Given the description of an element on the screen output the (x, y) to click on. 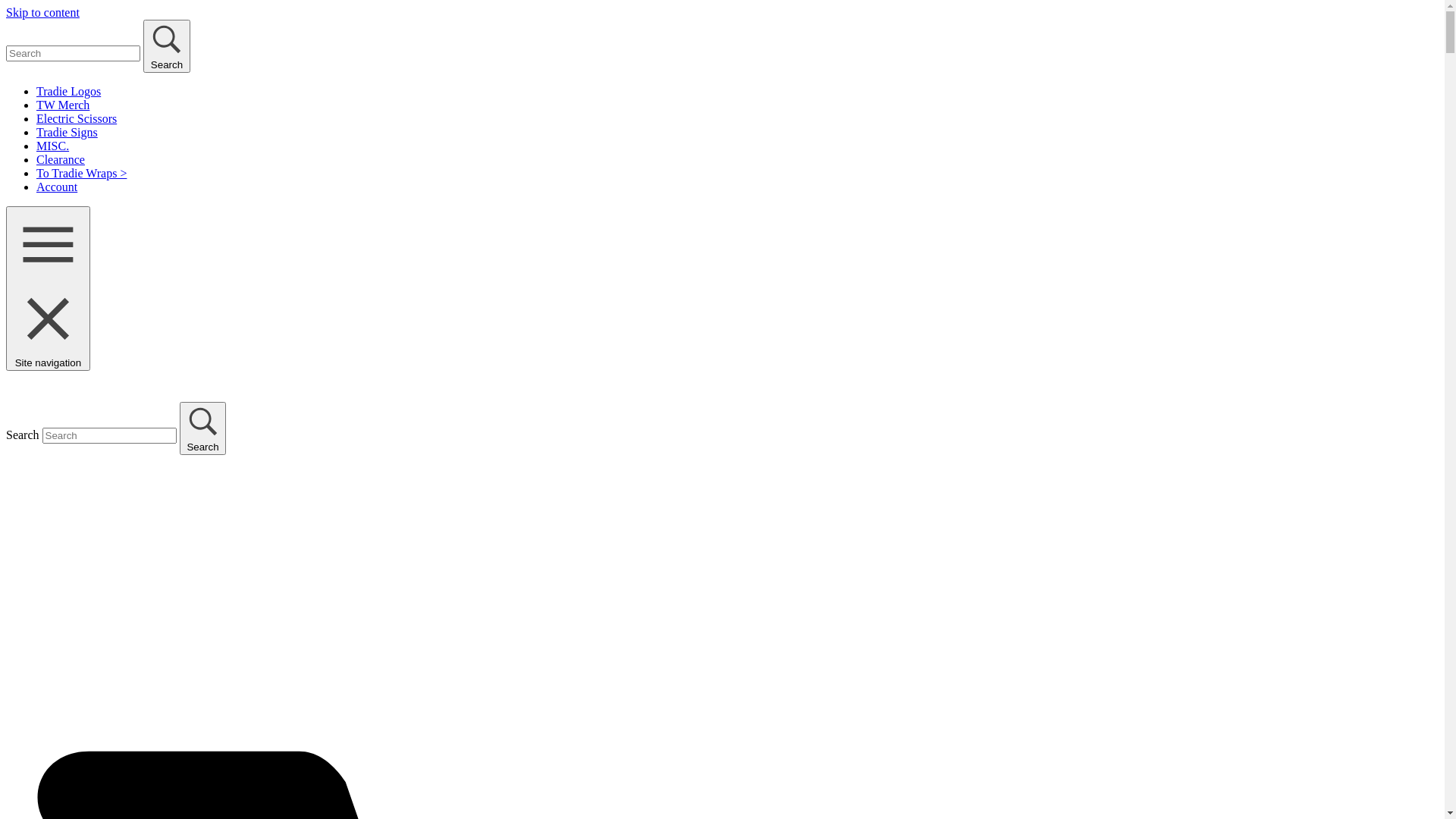
Electric Scissors Element type: text (76, 118)
Search Element type: text (166, 45)
Tradie Logos Element type: text (68, 90)
TW Merch Element type: text (62, 104)
Tradie Signs Element type: text (66, 131)
Search Element type: text (202, 428)
Skip to content Element type: text (42, 12)
Clearance Element type: text (60, 159)
Account Element type: text (56, 186)
MISC. Element type: text (52, 145)
Site navigation Element type: text (48, 288)
To Tradie Wraps > Element type: text (81, 172)
